Given the description of an element on the screen output the (x, y) to click on. 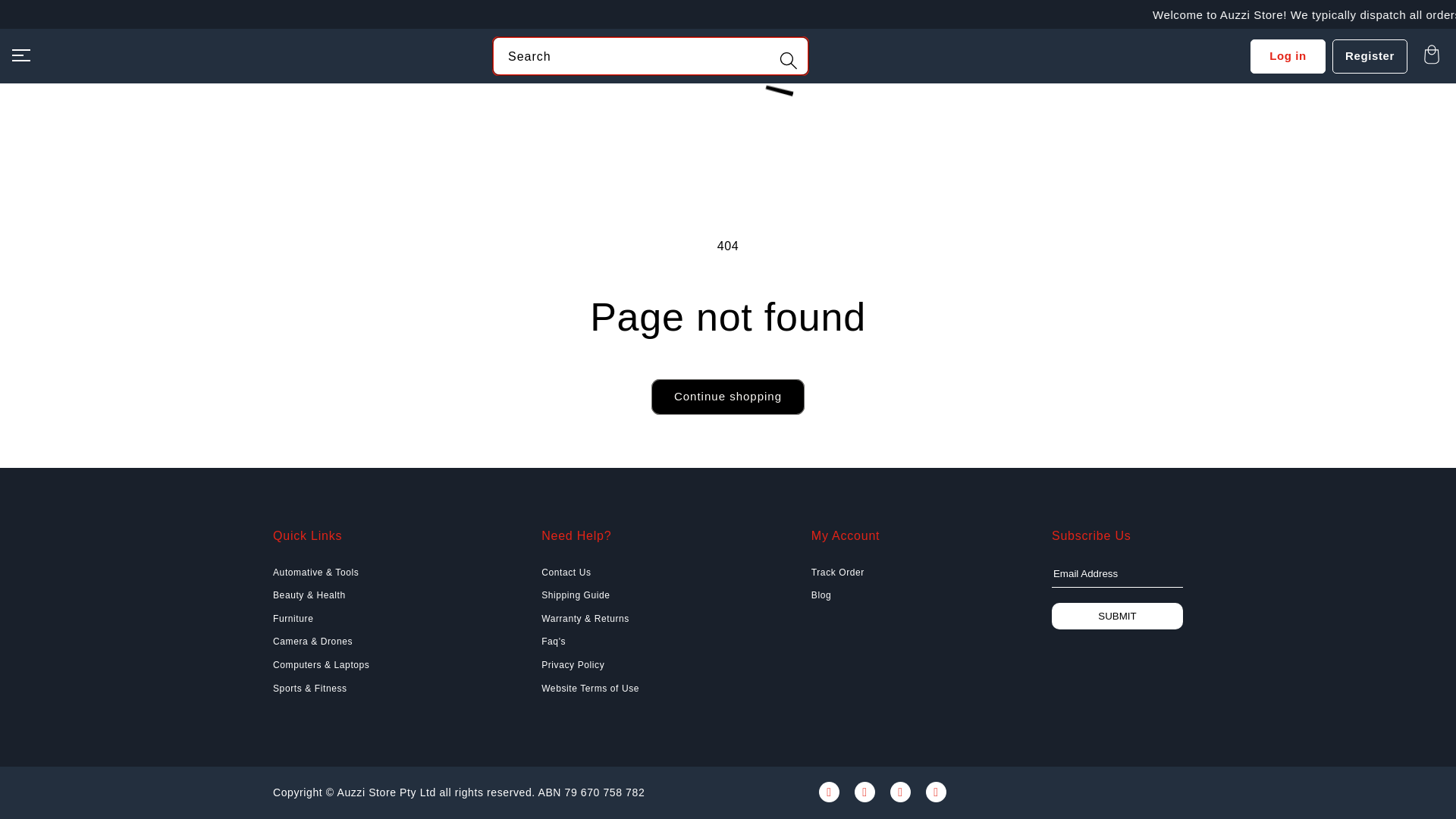
SUBMIT (1116, 615)
hamburger (20, 54)
Skip to content (45, 17)
